Given the description of an element on the screen output the (x, y) to click on. 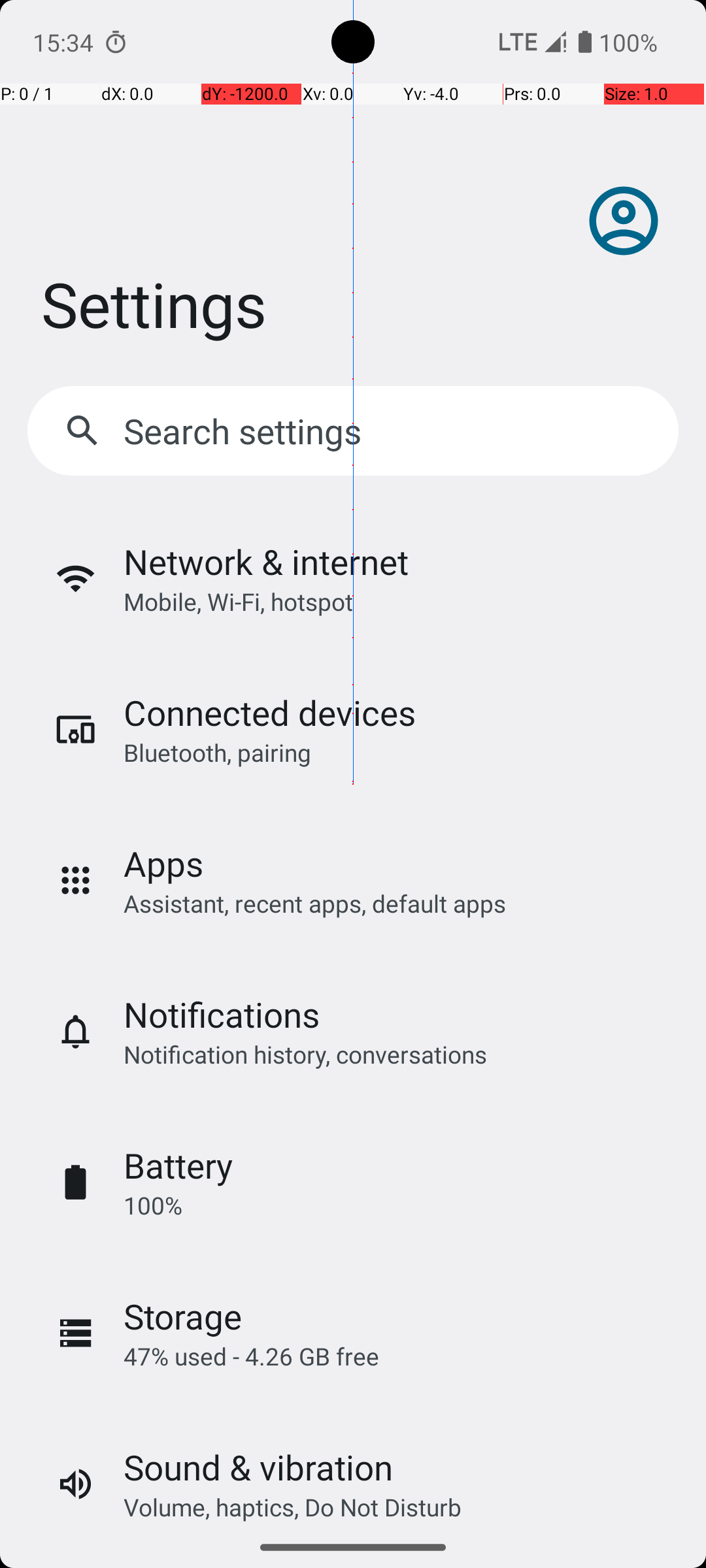
47% used - 4.26 GB free Element type: android.widget.TextView (251, 1355)
